Given the description of an element on the screen output the (x, y) to click on. 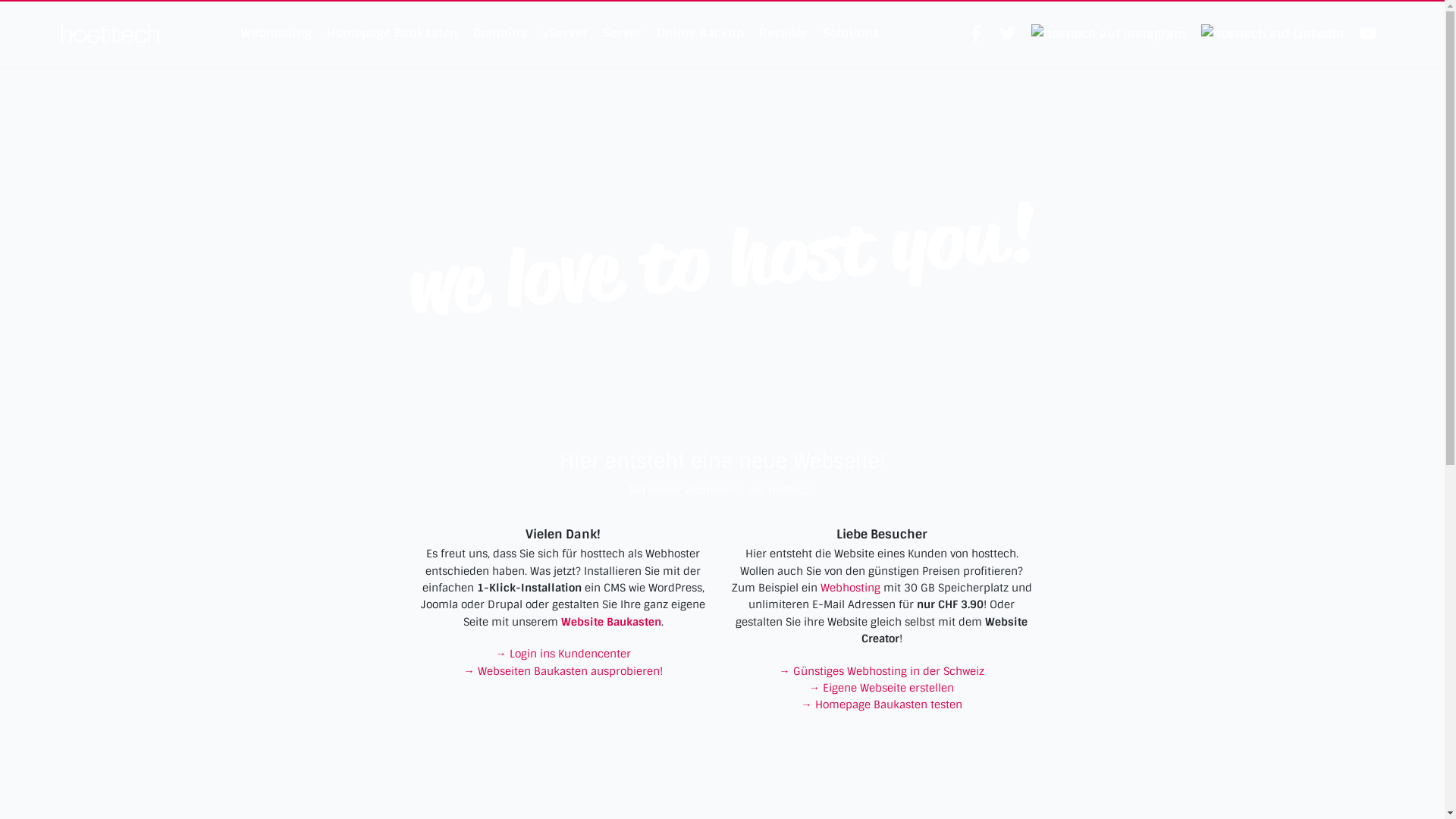
Domains Element type: text (500, 32)
Online Backup Element type: text (699, 32)
Solutions Element type: text (850, 32)
Website Baukasten Element type: text (611, 621)
Webhosting Element type: text (274, 32)
Reseller Element type: text (782, 32)
Homepage Baukasten Element type: text (391, 32)
vServer Element type: text (563, 32)
Webhosting Element type: text (850, 587)
Server Element type: text (621, 32)
